Given the description of an element on the screen output the (x, y) to click on. 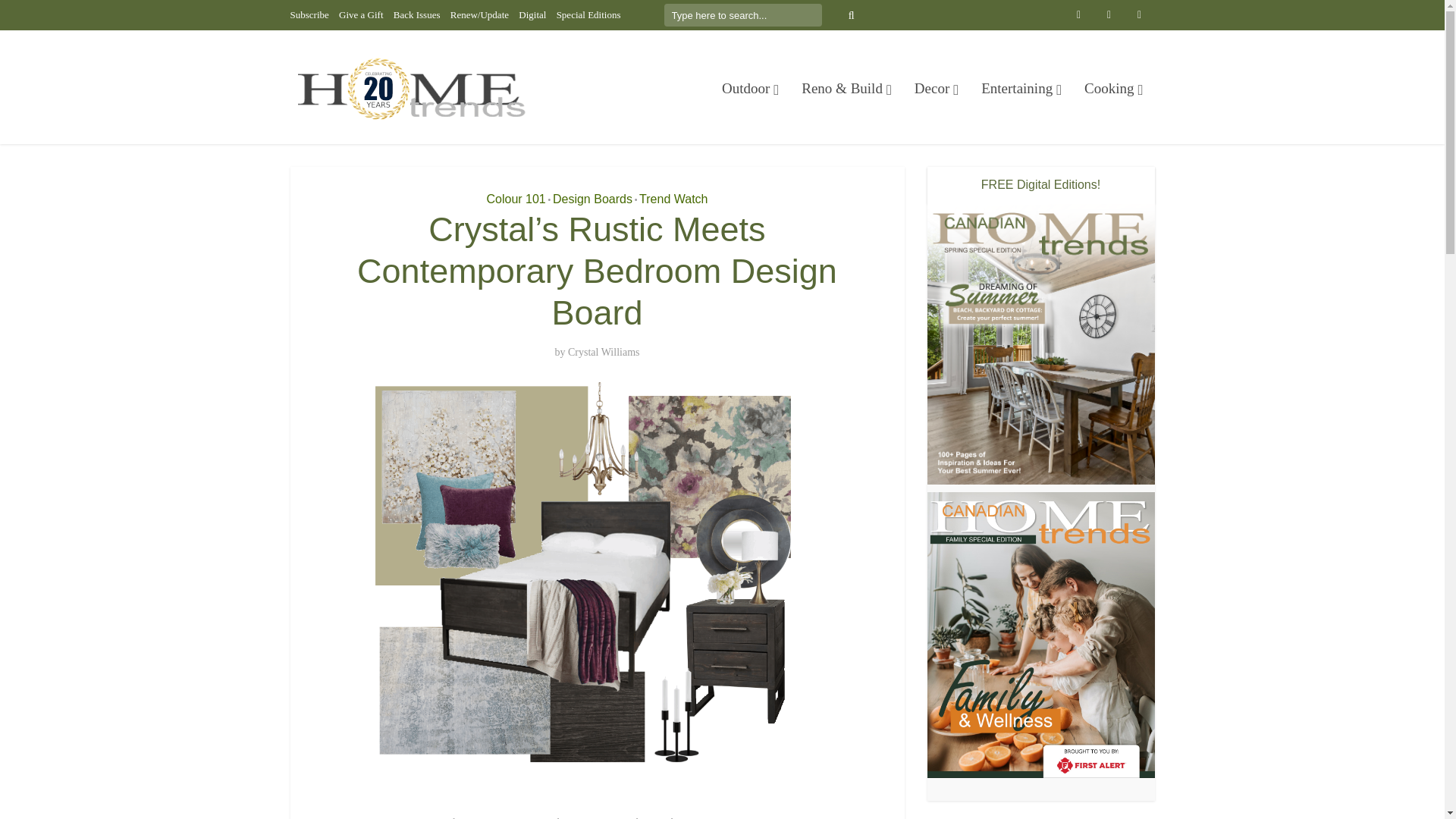
Type here to search... (742, 15)
Give a Gift (360, 14)
Special Editions (588, 14)
Type here to search... (742, 15)
Subscribe (309, 14)
Back Issues (417, 14)
Digital (532, 14)
